Given the description of an element on the screen output the (x, y) to click on. 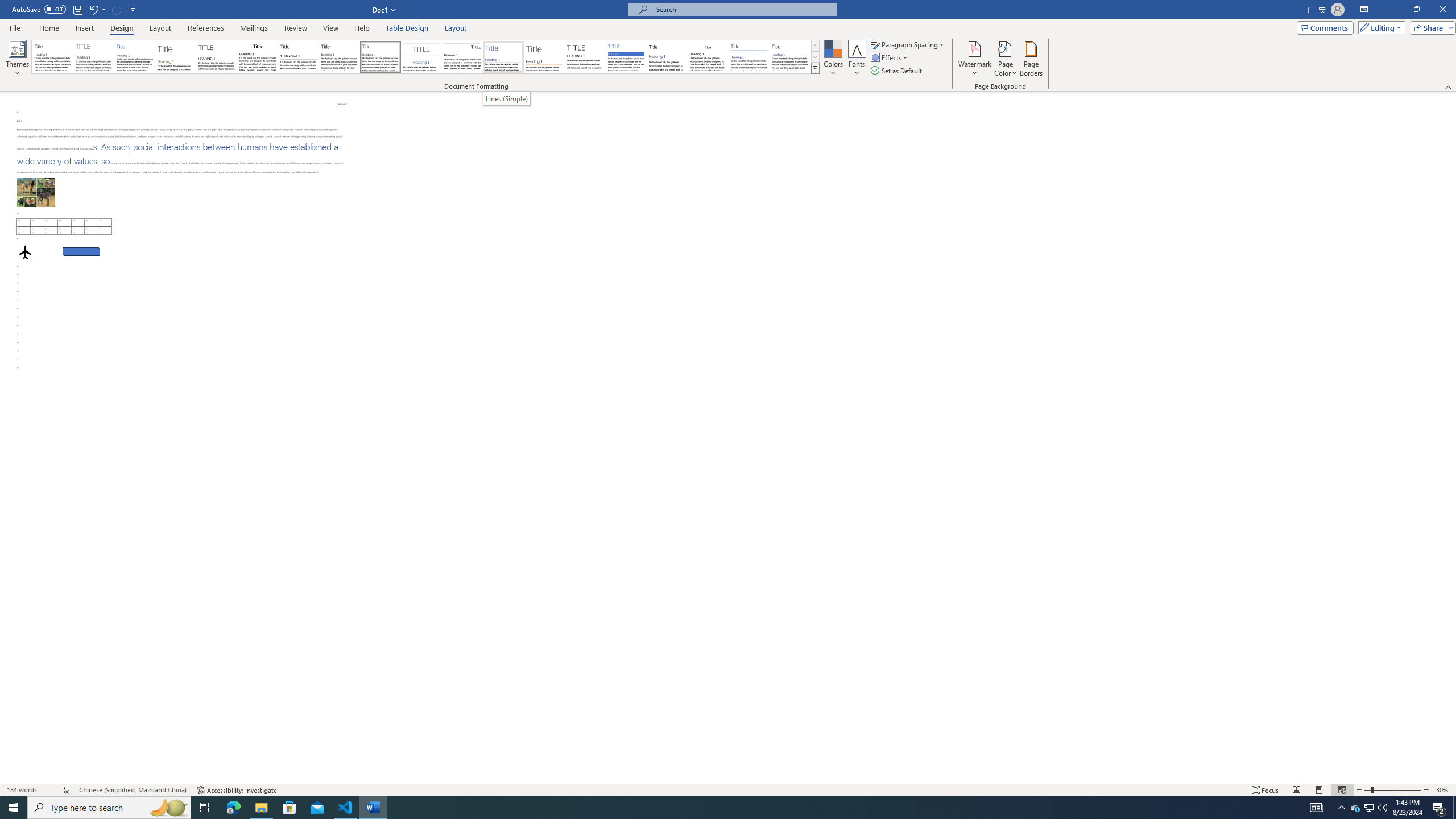
Shaded (625, 56)
Morphological variation in six dogs (36, 187)
Watermark (974, 58)
Document (52, 56)
Casual (379, 56)
Lines (Distinctive) (462, 56)
Effects (890, 56)
